Given the description of an element on the screen output the (x, y) to click on. 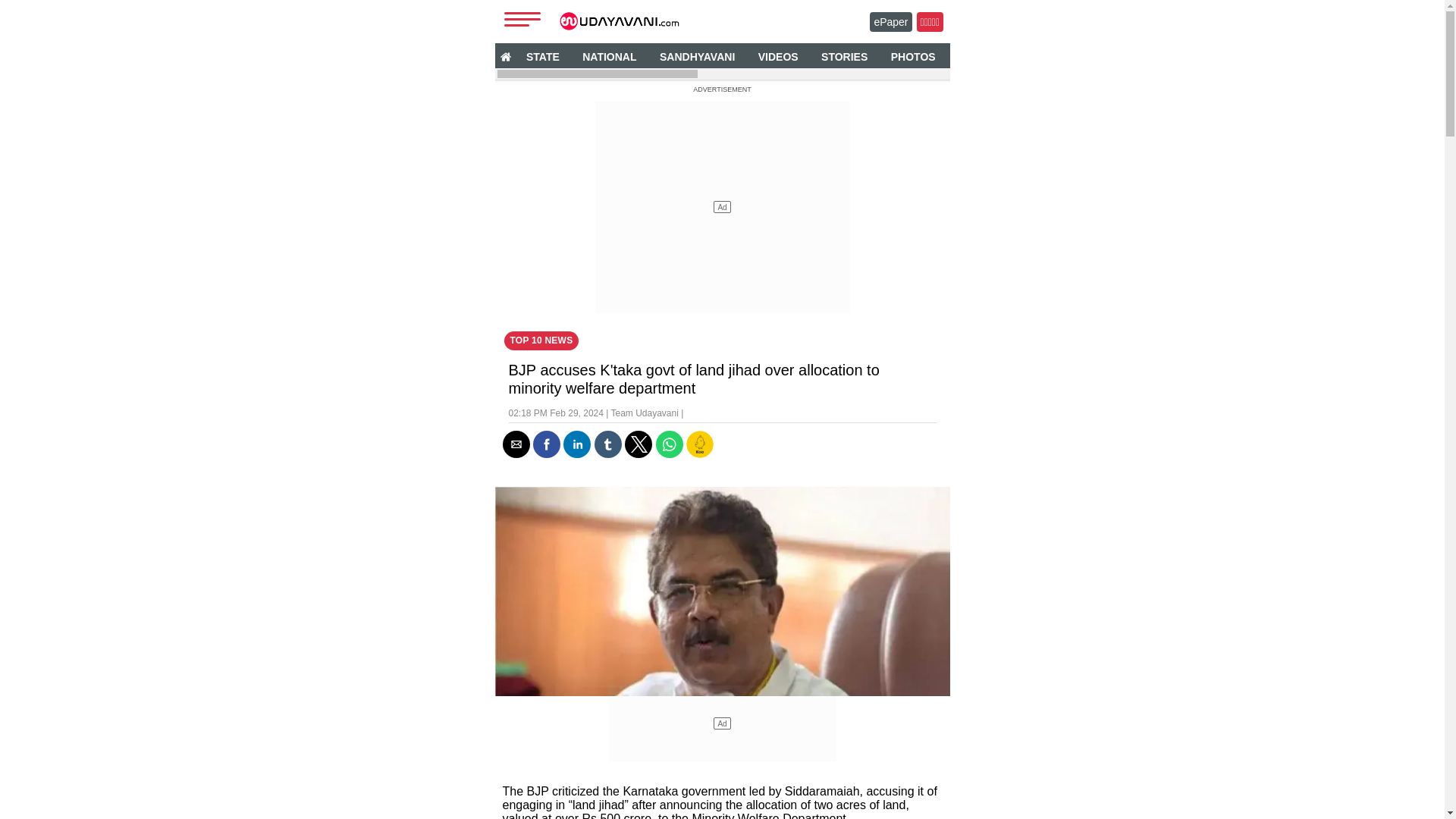
NATIONAL (609, 56)
SPORTS (1064, 56)
ELECTION-2023 (1149, 56)
STORIES (843, 56)
VIDEOS (778, 56)
PREMIUM CONTENT (1264, 56)
ePaper (890, 21)
STATE (542, 56)
Share on Koo App (699, 453)
TOP 10 NEWS (540, 340)
